Given the description of an element on the screen output the (x, y) to click on. 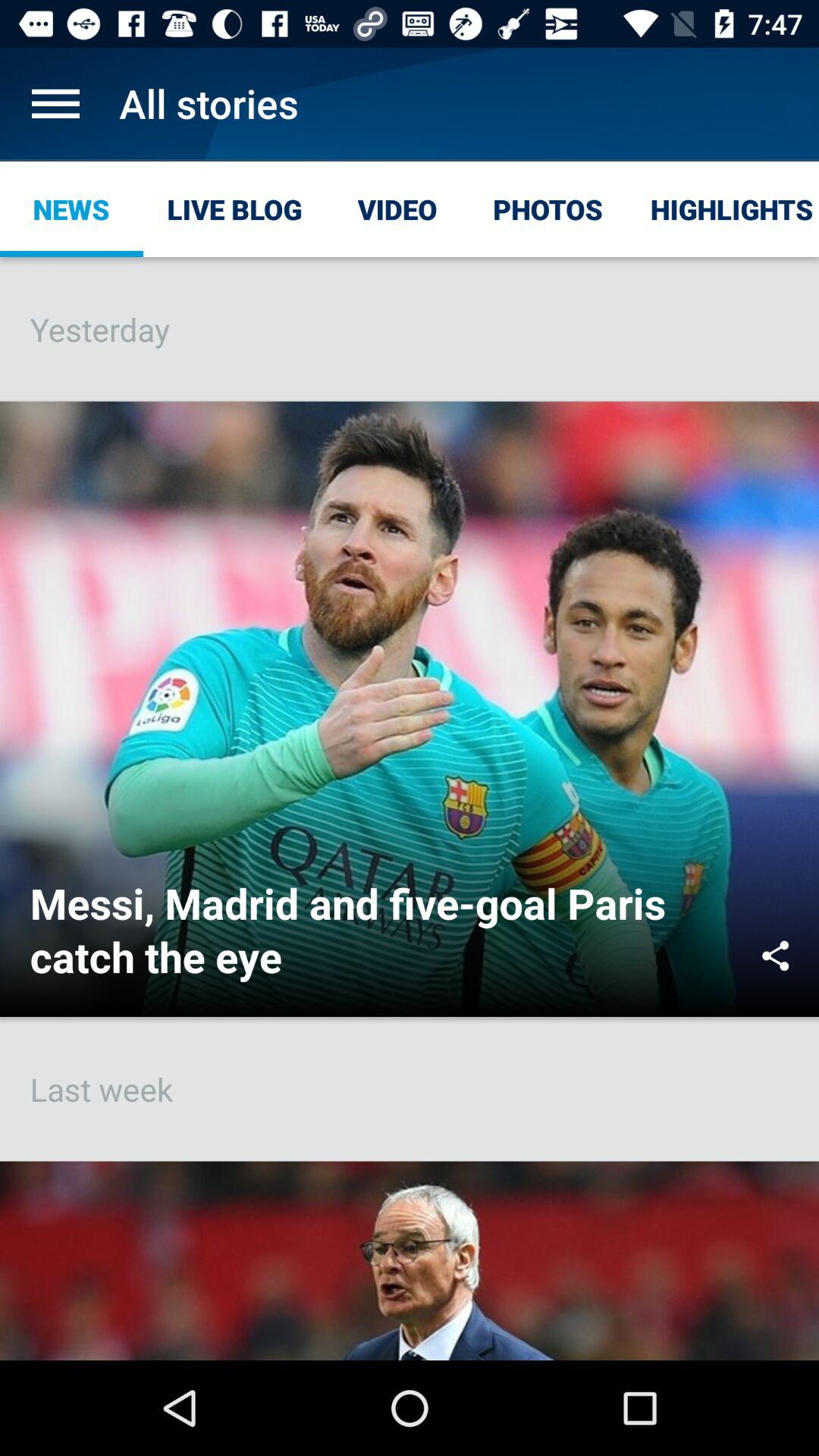
choose the item next to the messi madrid and item (775, 955)
